Given the description of an element on the screen output the (x, y) to click on. 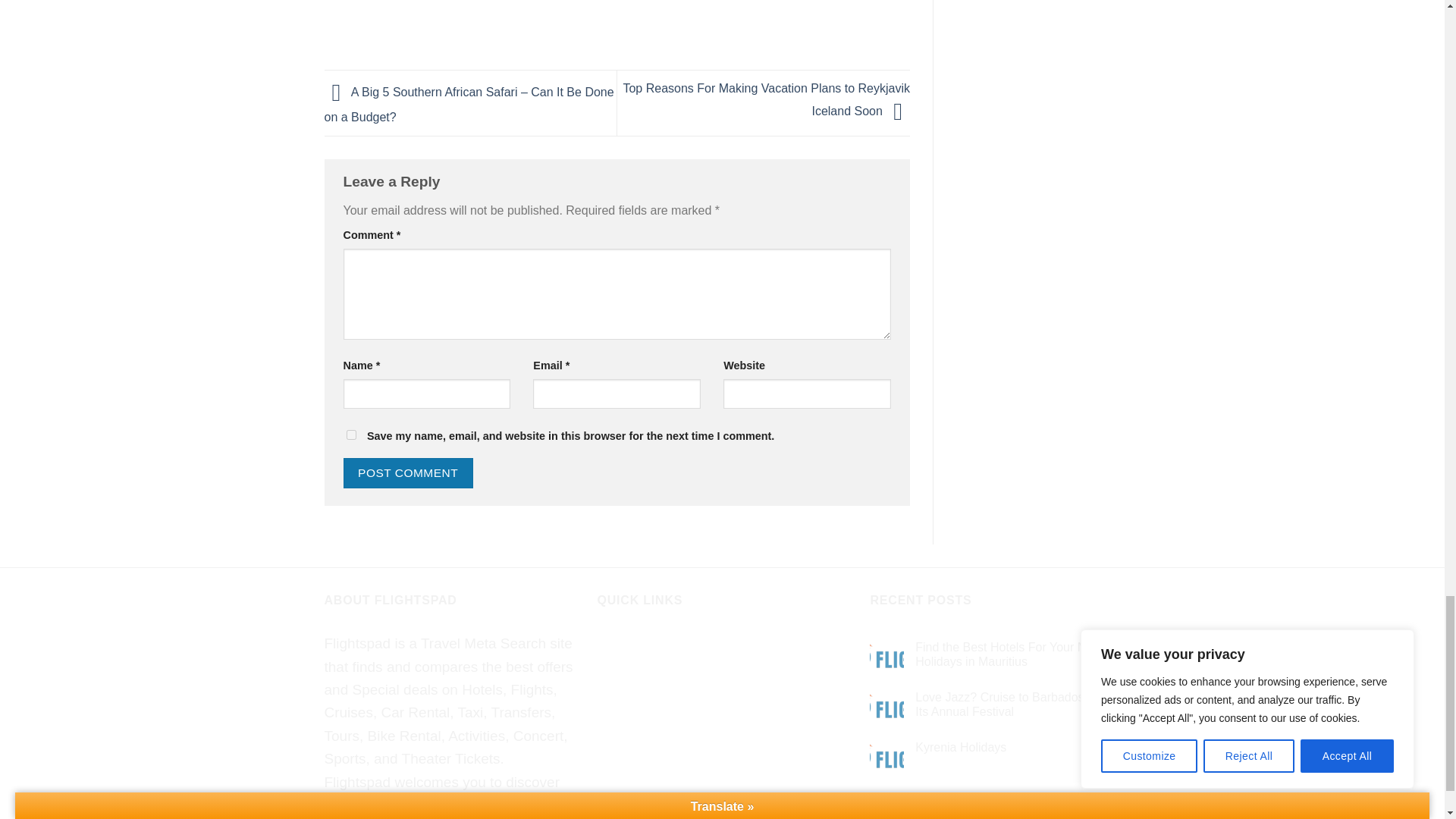
Post Comment (406, 472)
yes (350, 434)
